Given the description of an element on the screen output the (x, y) to click on. 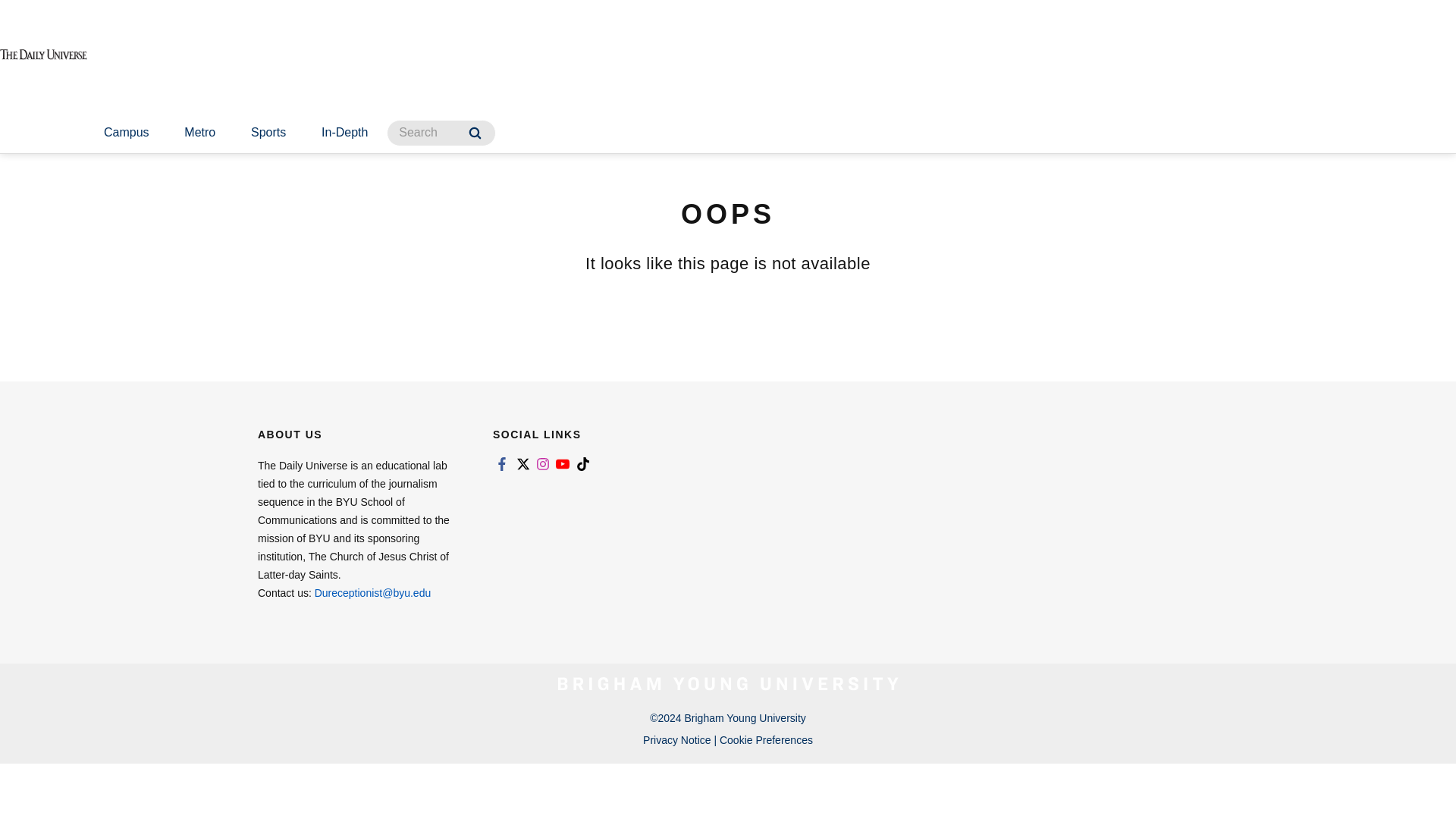
Link to facebook (502, 463)
Link to youtube (562, 463)
Cookie Preferences (765, 739)
Link to instagram (542, 463)
Campus (126, 133)
Link to twitter (522, 463)
Link to tiktok (582, 463)
Metro (199, 133)
Search (474, 132)
Sports (268, 133)
Privacy Notice (676, 739)
In-Depth (344, 133)
